Given the description of an element on the screen output the (x, y) to click on. 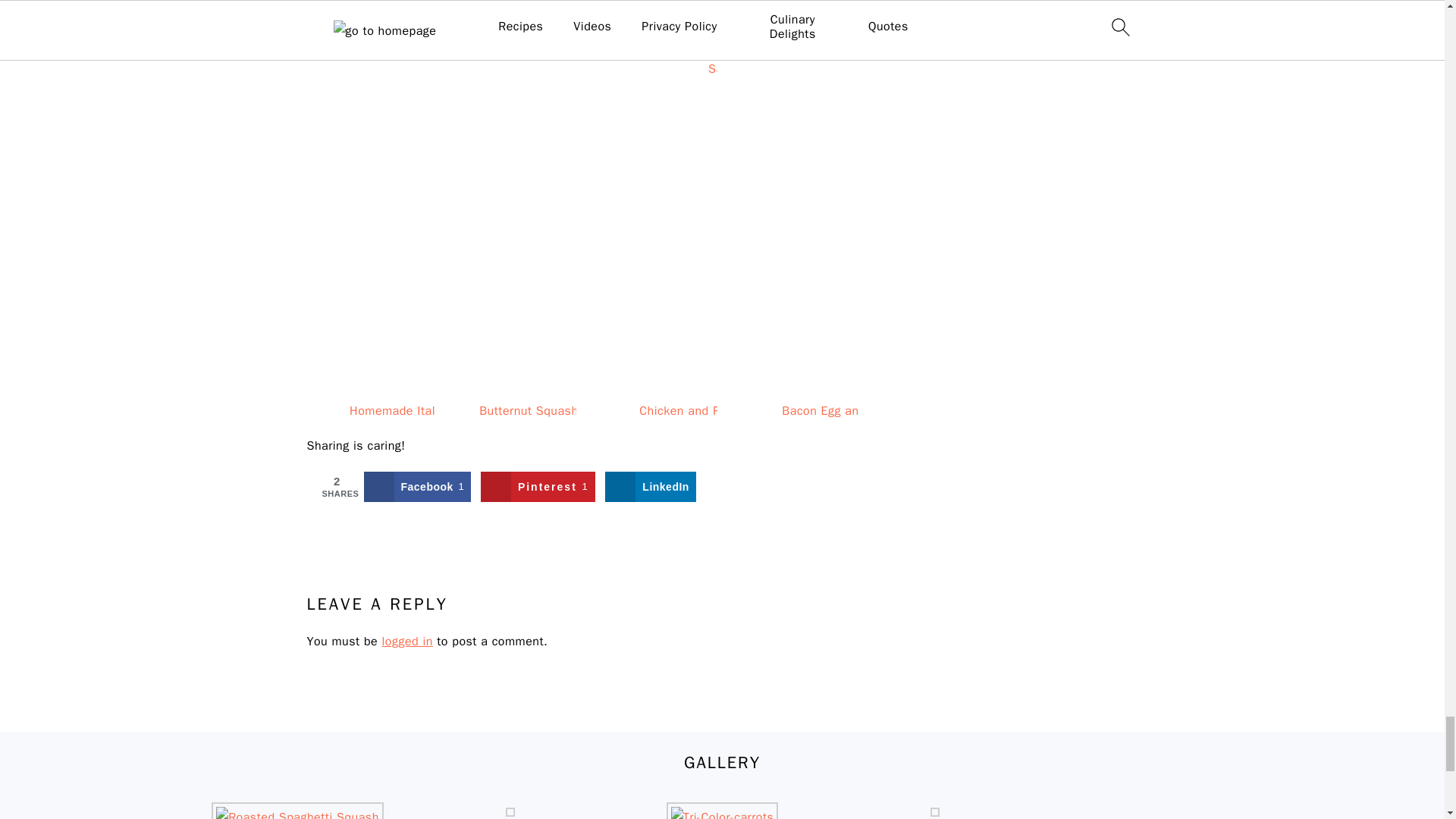
Share on LinkedIn (650, 486)
Share on Facebook (417, 486)
Save to Pinterest (537, 486)
